Given the description of an element on the screen output the (x, y) to click on. 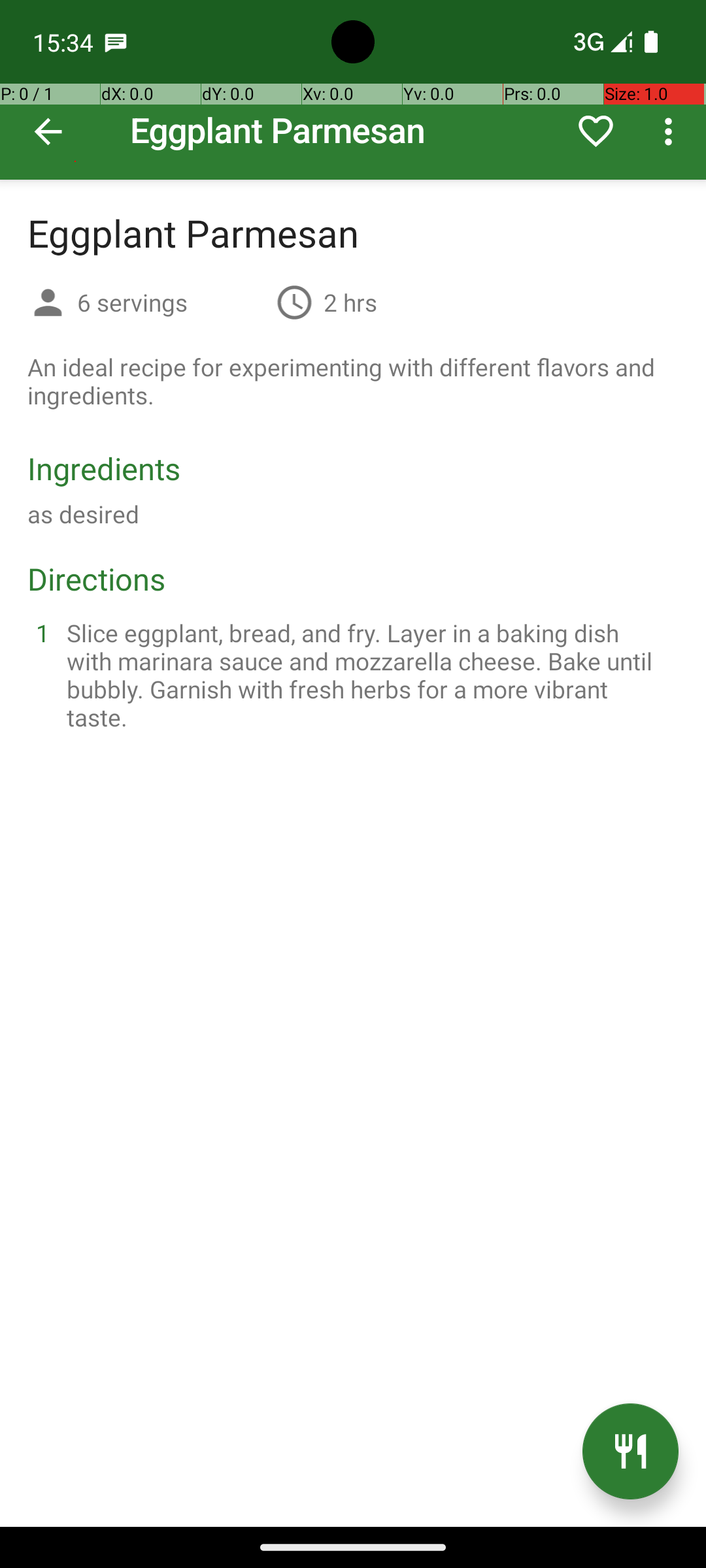
2 hrs Element type: android.widget.TextView (350, 301)
as desired Element type: android.widget.TextView (83, 513)
Slice eggplant, bread, and fry. Layer in a baking dish with marinara sauce and mozzarella cheese. Bake until bubbly. Garnish with fresh herbs for a more vibrant taste. Element type: android.widget.TextView (368, 674)
